Given the description of an element on the screen output the (x, y) to click on. 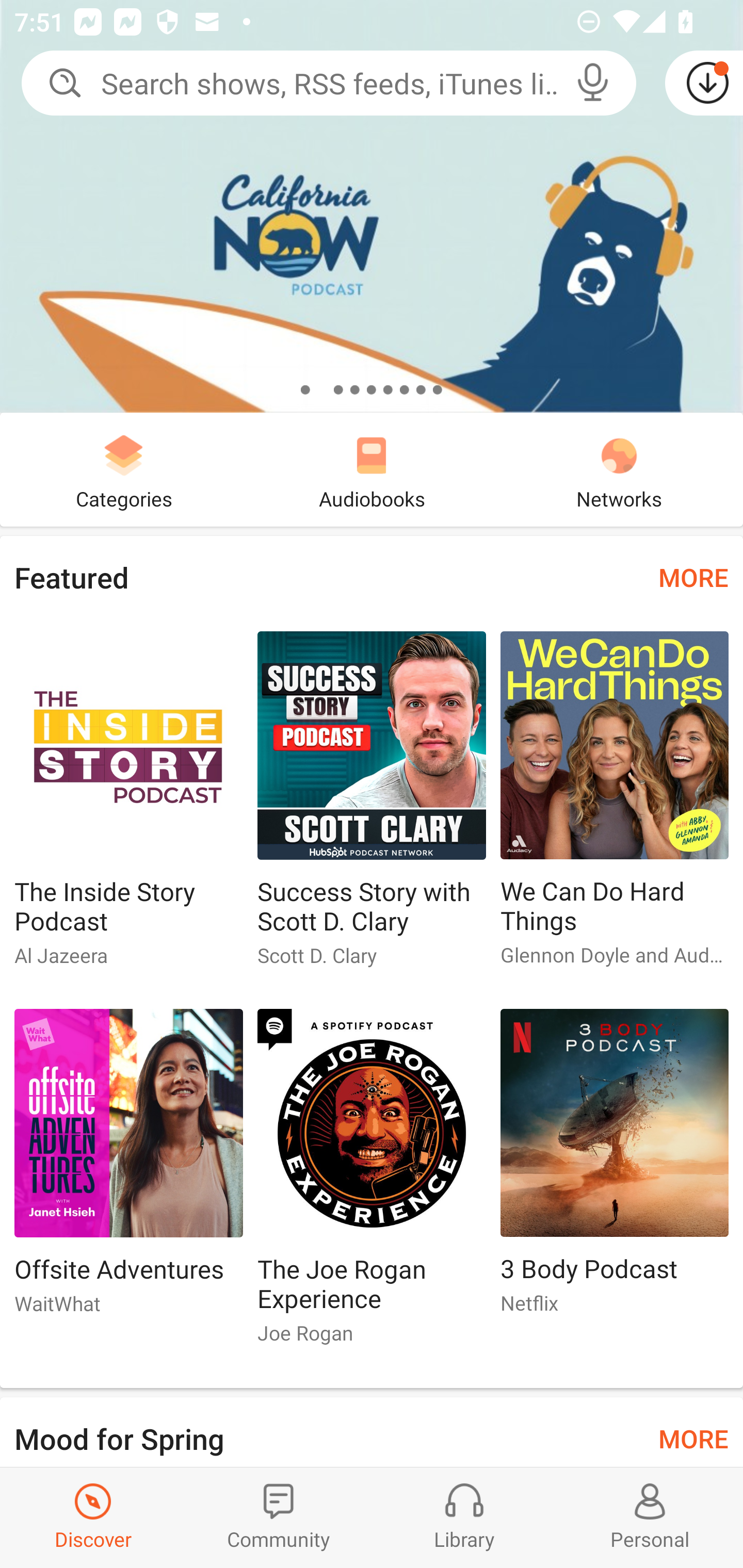
California Now Podcast (371, 206)
Categories (123, 469)
Audiobooks (371, 469)
Networks (619, 469)
MORE (693, 576)
Offsite Adventures Offsite Adventures WaitWhat (128, 1169)
3 Body Podcast 3 Body Podcast Netflix (614, 1169)
MORE (693, 1436)
Discover (92, 1517)
Community (278, 1517)
Library (464, 1517)
Profiles and Settings Personal (650, 1517)
